Given the description of an element on the screen output the (x, y) to click on. 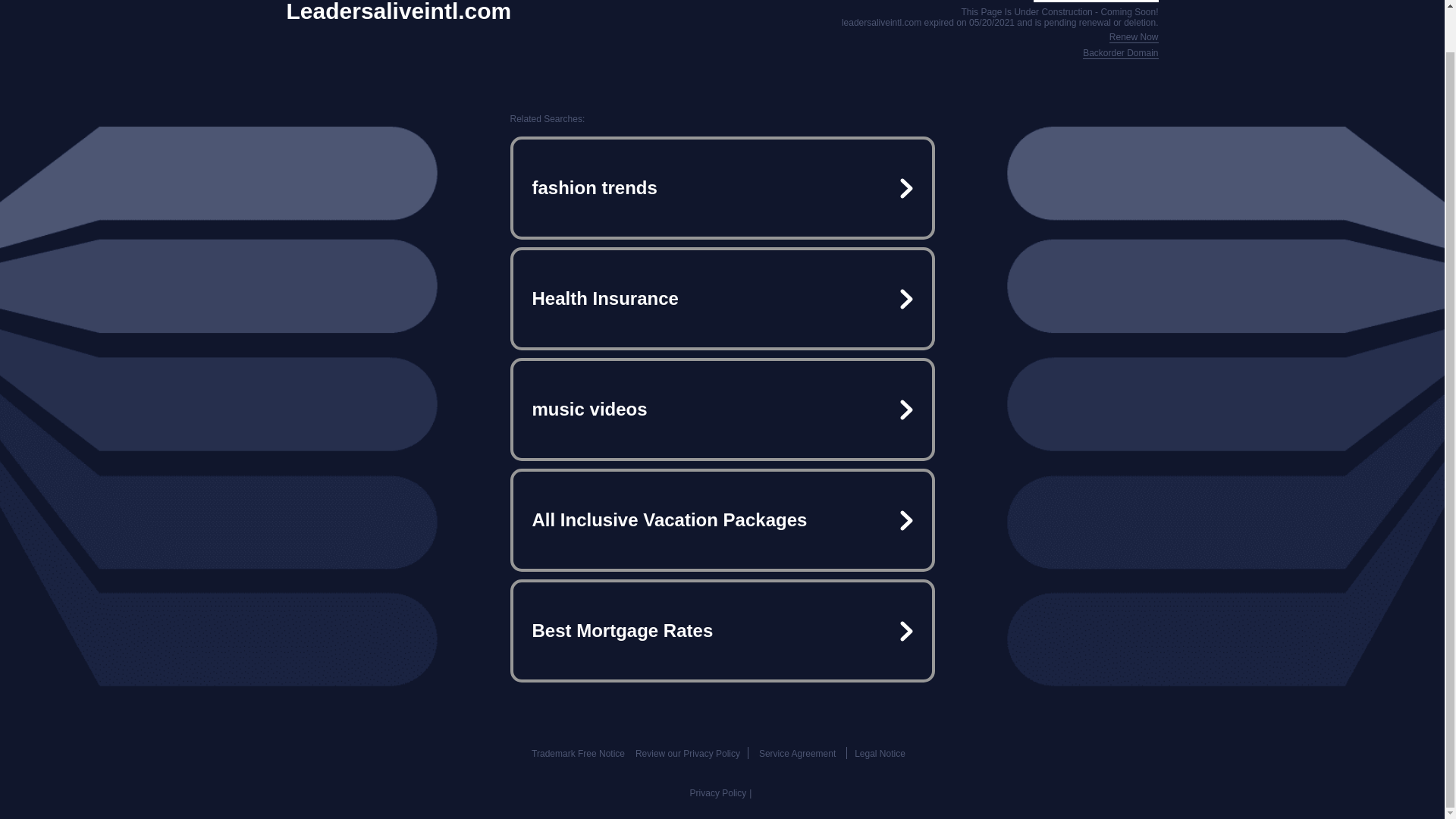
Backorder Domain (1120, 52)
Legal Notice (879, 753)
fashion trends (721, 187)
Best Mortgage Rates (721, 630)
fashion trends (721, 187)
Health Insurance (721, 298)
All Inclusive Vacation Packages (721, 519)
Renew Now (1133, 37)
music videos (721, 409)
Review our Privacy Policy (686, 753)
Trademark Free Notice (577, 753)
Privacy Policy (718, 792)
Leadersaliveintl.com (399, 12)
music videos (721, 409)
Best Mortgage Rates (721, 630)
